Given the description of an element on the screen output the (x, y) to click on. 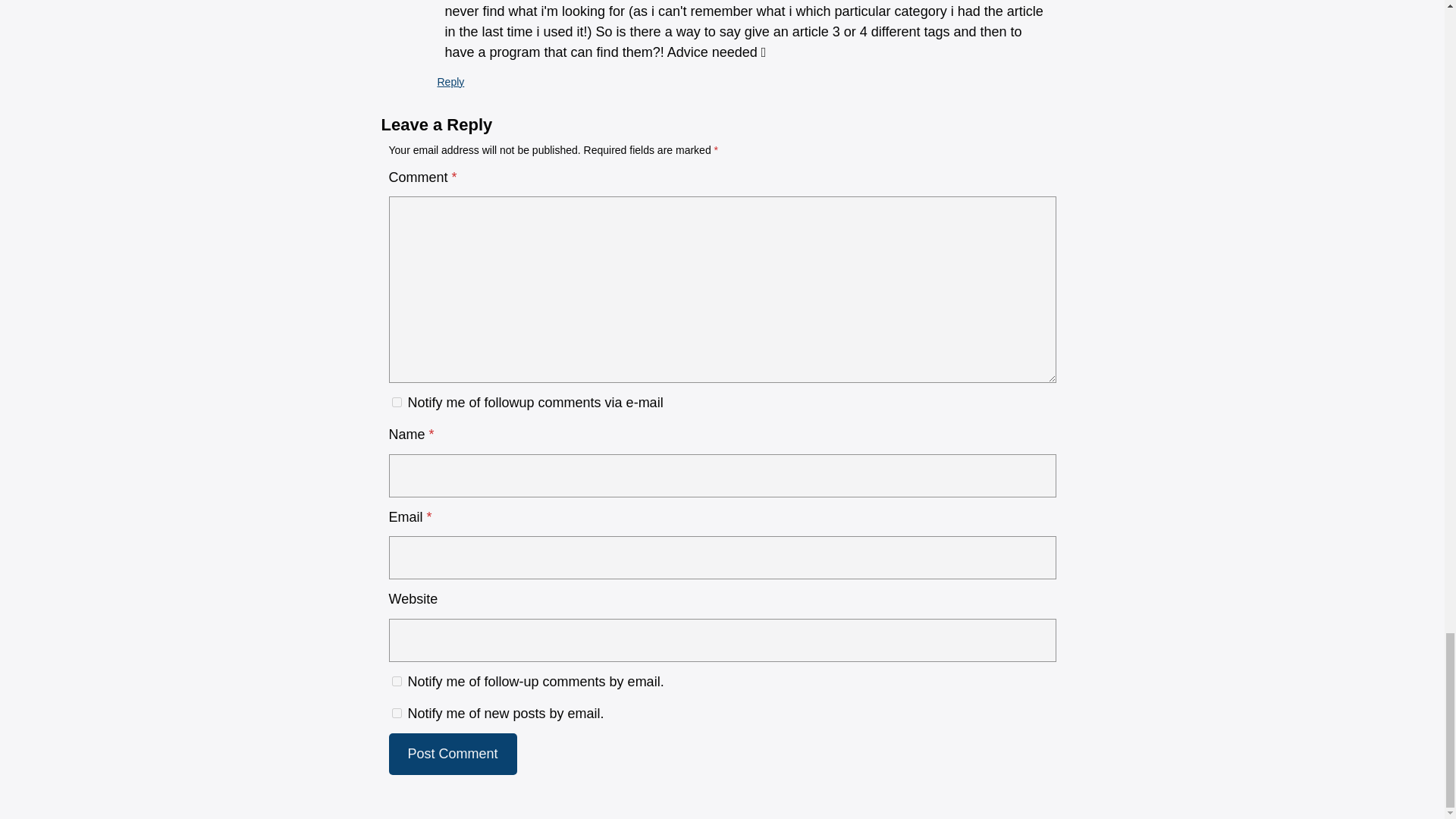
subscribe (396, 713)
Post Comment (452, 753)
subscribe (396, 402)
Reply (450, 81)
Post Comment (452, 753)
subscribe (396, 681)
